Given the description of an element on the screen output the (x, y) to click on. 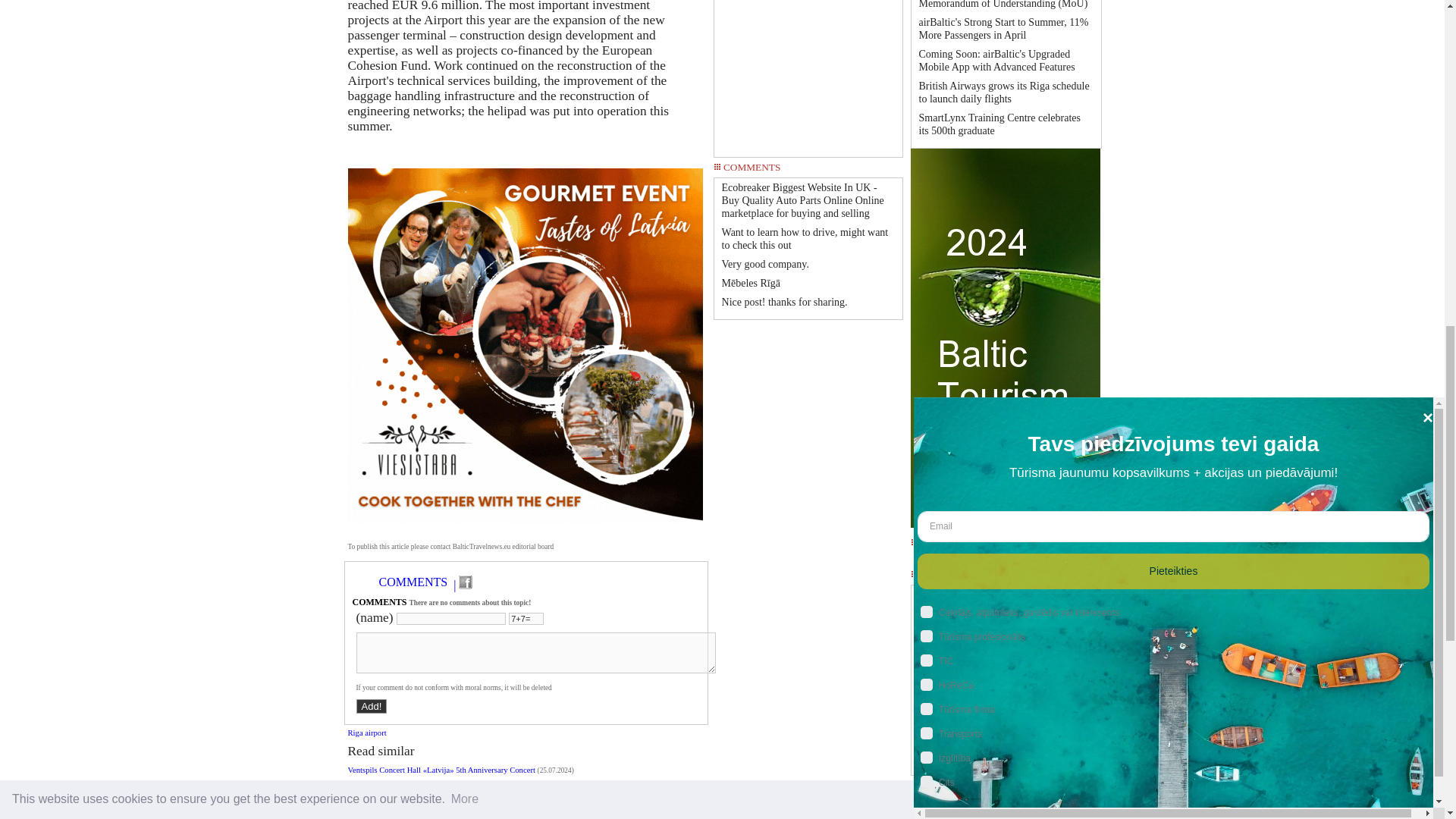
Tukuma TIC (1005, 630)
Gulbenes novada TIC (1005, 594)
COMMENTS (413, 581)
Advertisement (807, 73)
Add! (371, 706)
SmartLynx Training Centre celebrates its 500th graduate (999, 124)
Ventspils TIC (1005, 612)
Add! (371, 706)
